Given the description of an element on the screen output the (x, y) to click on. 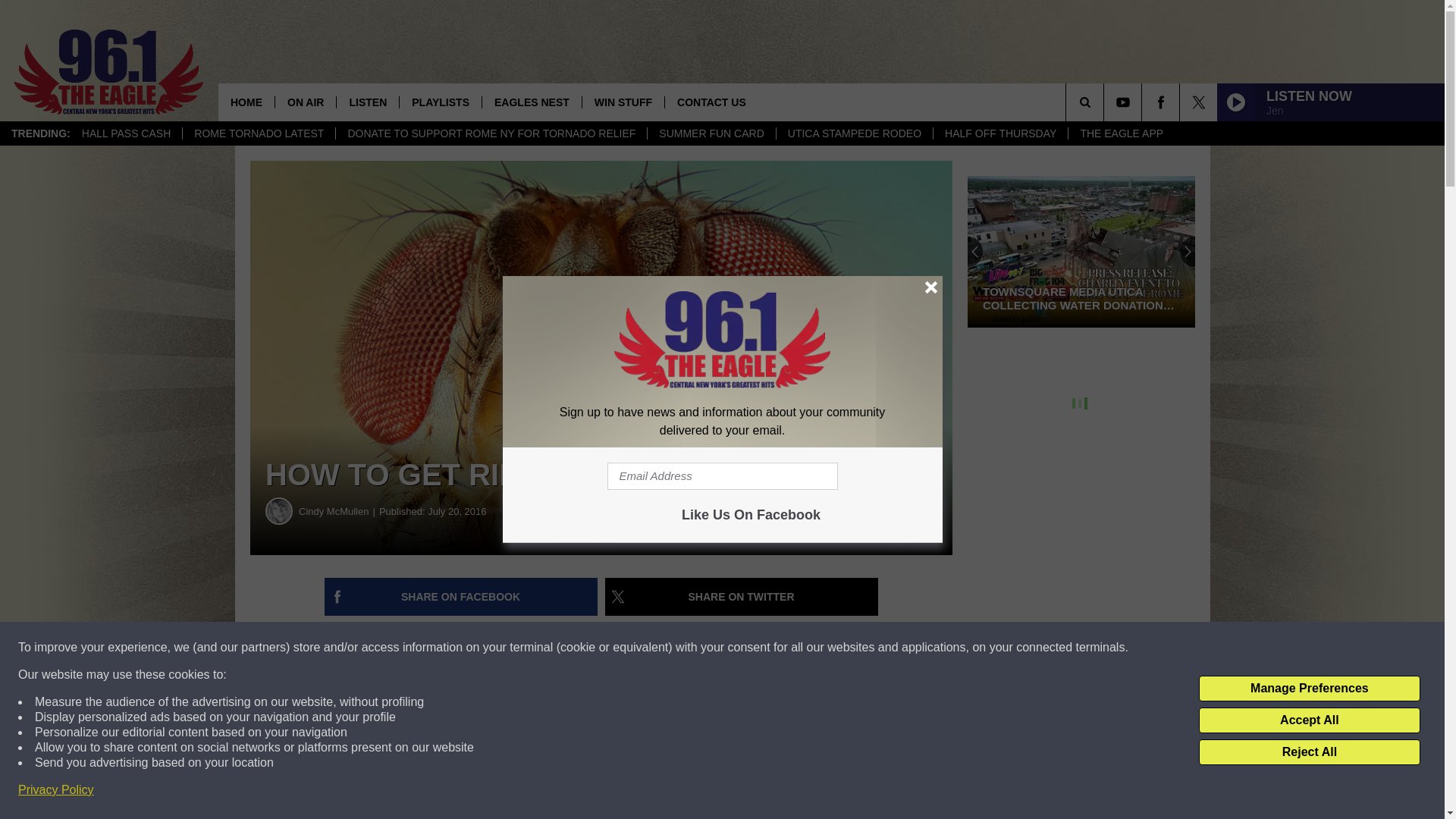
CONTACT US (710, 102)
HALF OFF THURSDAY (1000, 133)
SEARCH (1106, 102)
ROME TORNADO LATEST (258, 133)
DONATE TO SUPPORT ROME NY FOR TORNADO RELIEF (490, 133)
ON AIR (305, 102)
PLAYLISTS (439, 102)
Share on Facebook (460, 596)
Email Address (722, 475)
THE EAGLE APP (1120, 133)
HALL PASS CASH (126, 133)
HOME (246, 102)
SEARCH (1106, 102)
Accept All (1309, 720)
EAGLES NEST (530, 102)
